Given the description of an element on the screen output the (x, y) to click on. 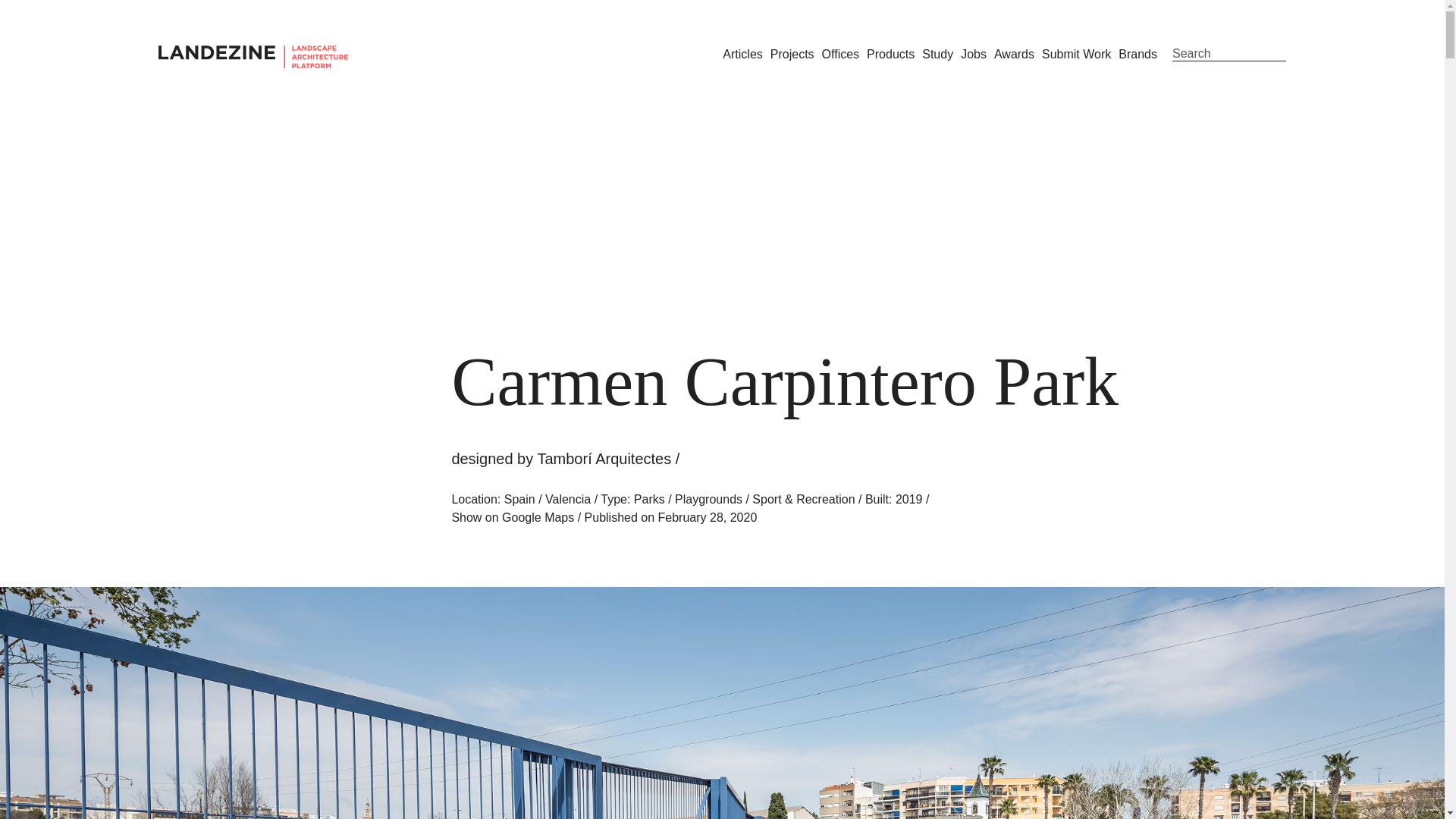
Study (937, 53)
Show on Google Maps (512, 517)
Articles (741, 53)
Awards (1013, 53)
Projects (791, 53)
Offices (841, 53)
Jobs (973, 53)
Brands (1137, 53)
Products (890, 53)
Search (1228, 53)
